Given the description of an element on the screen output the (x, y) to click on. 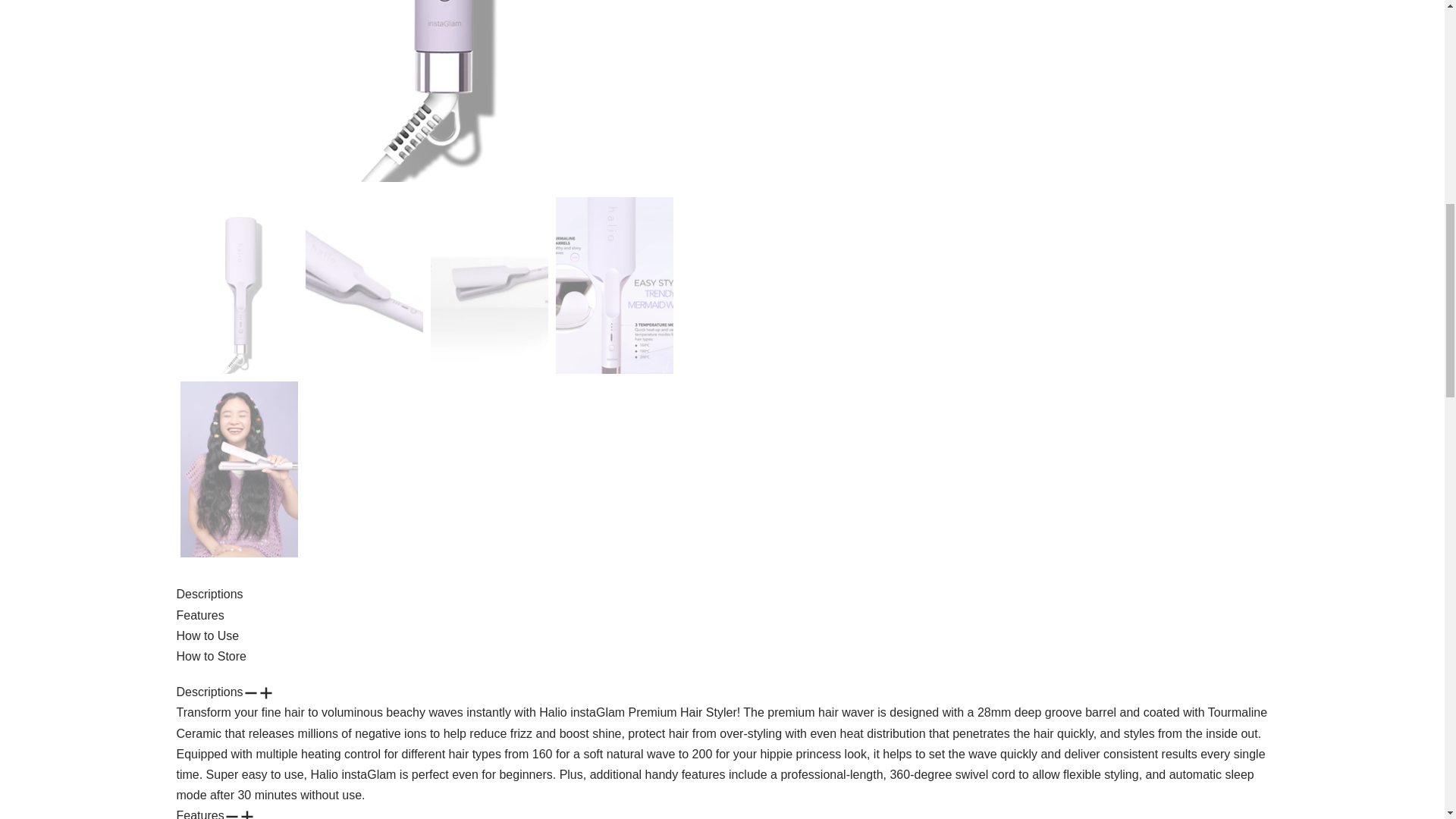
instaGlam Premium Hair Styler (363, 285)
instaGlam Premium Hair Styler (613, 285)
instaGlam Premium Hair Styler (239, 285)
instaGlam Premium Hair Styler (239, 469)
instaGlam Premium Hair Styler (489, 285)
instaGlam Premium Hair Styler (437, 90)
